Given the description of an element on the screen output the (x, y) to click on. 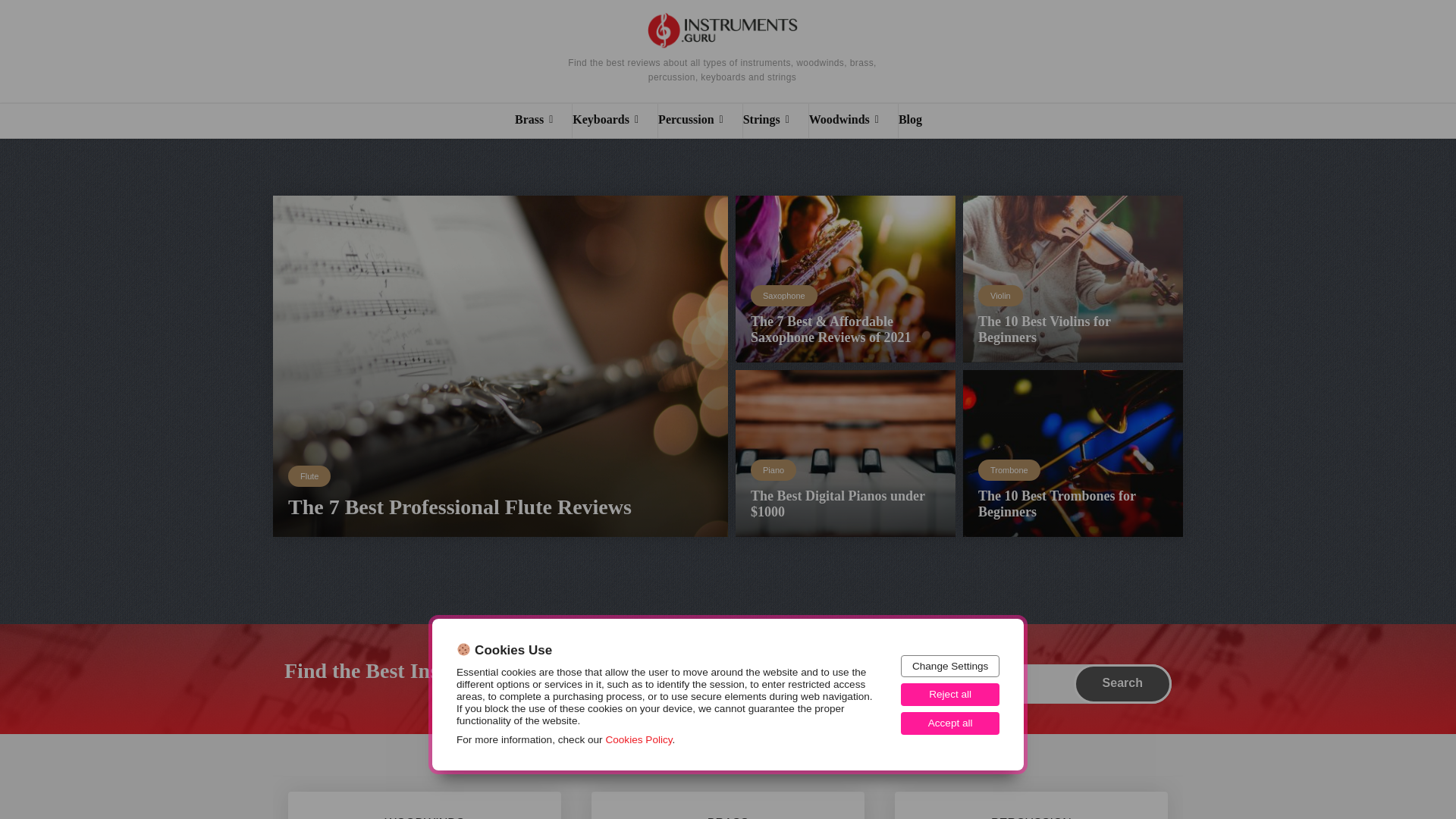
Woodwinds (853, 121)
Blog (919, 121)
Keyboards (615, 121)
Strings (775, 121)
Brass (543, 121)
Percussion (700, 121)
